Given the description of an element on the screen output the (x, y) to click on. 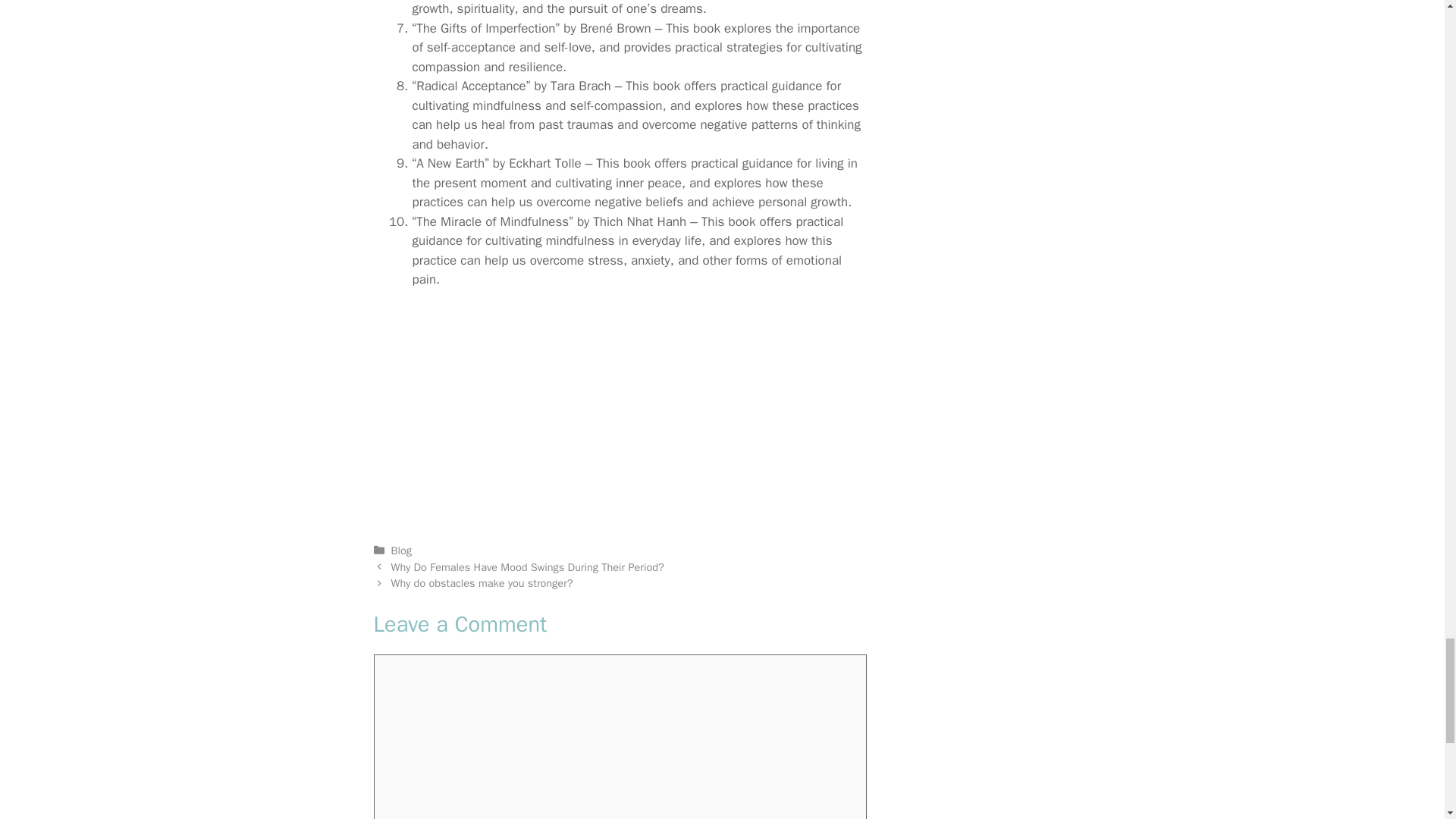
Why do obstacles make you stronger? (482, 582)
Blog (401, 550)
Why Do Females Have Mood Swings During Their Period? (527, 567)
